Given the description of an element on the screen output the (x, y) to click on. 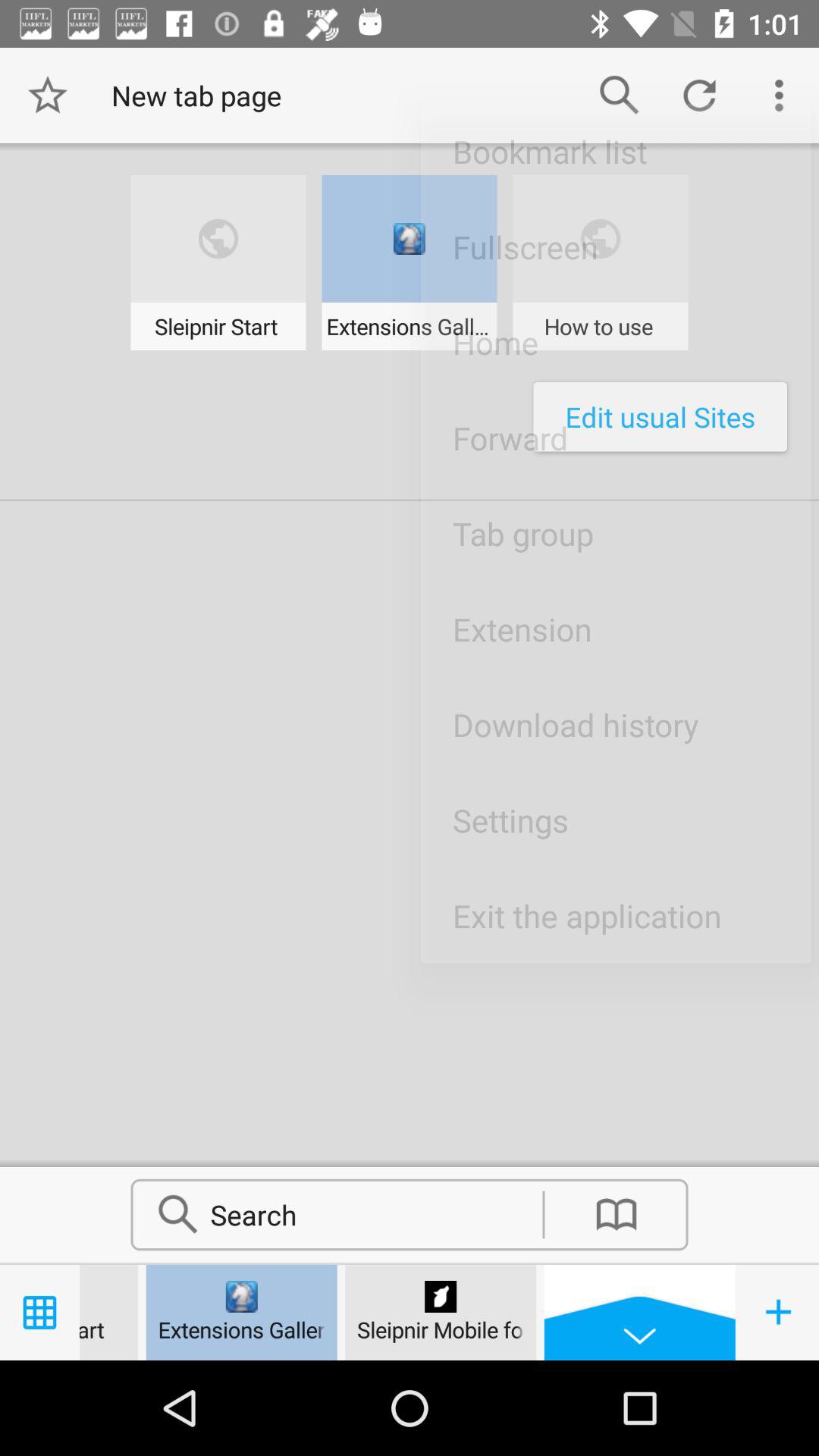
click the button on the top right corner of the web page (779, 95)
click the drop down button left to  at right corner bottom (639, 1312)
click the drop down button left to  at right corner bottom of the page (639, 1312)
click on grid view icon below search bar (39, 1312)
click on the  icon in the bottom left corner (779, 1312)
move to star symbol beside the text new tab page (47, 95)
